Given the description of an element on the screen output the (x, y) to click on. 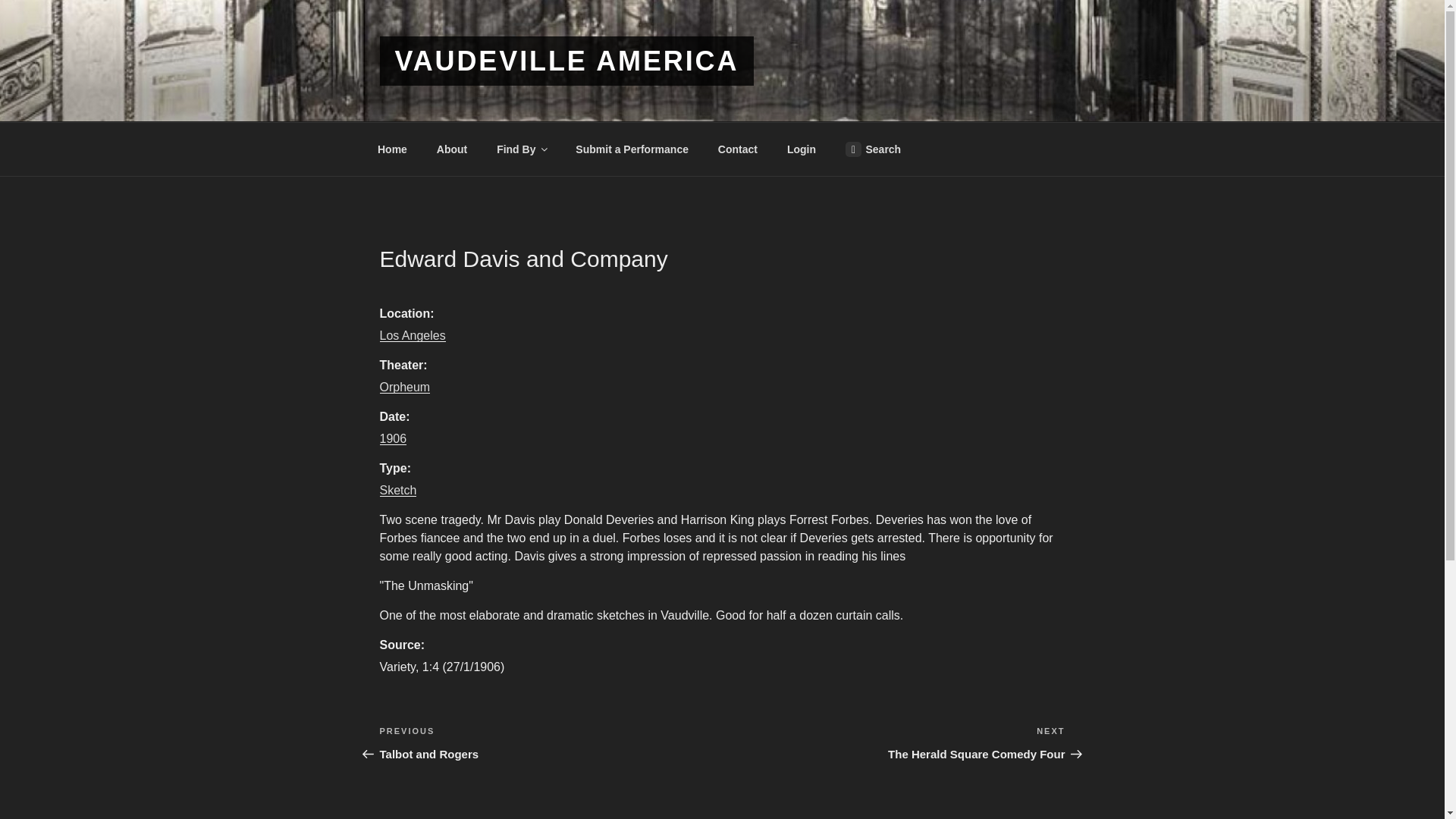
Contact (737, 148)
VAUDEVILLE AMERICA (566, 60)
Home (392, 148)
Find By (550, 742)
Sketch (521, 148)
Orpheum (397, 490)
About (403, 386)
Search (451, 148)
Login (872, 148)
